Given the description of an element on the screen output the (x, y) to click on. 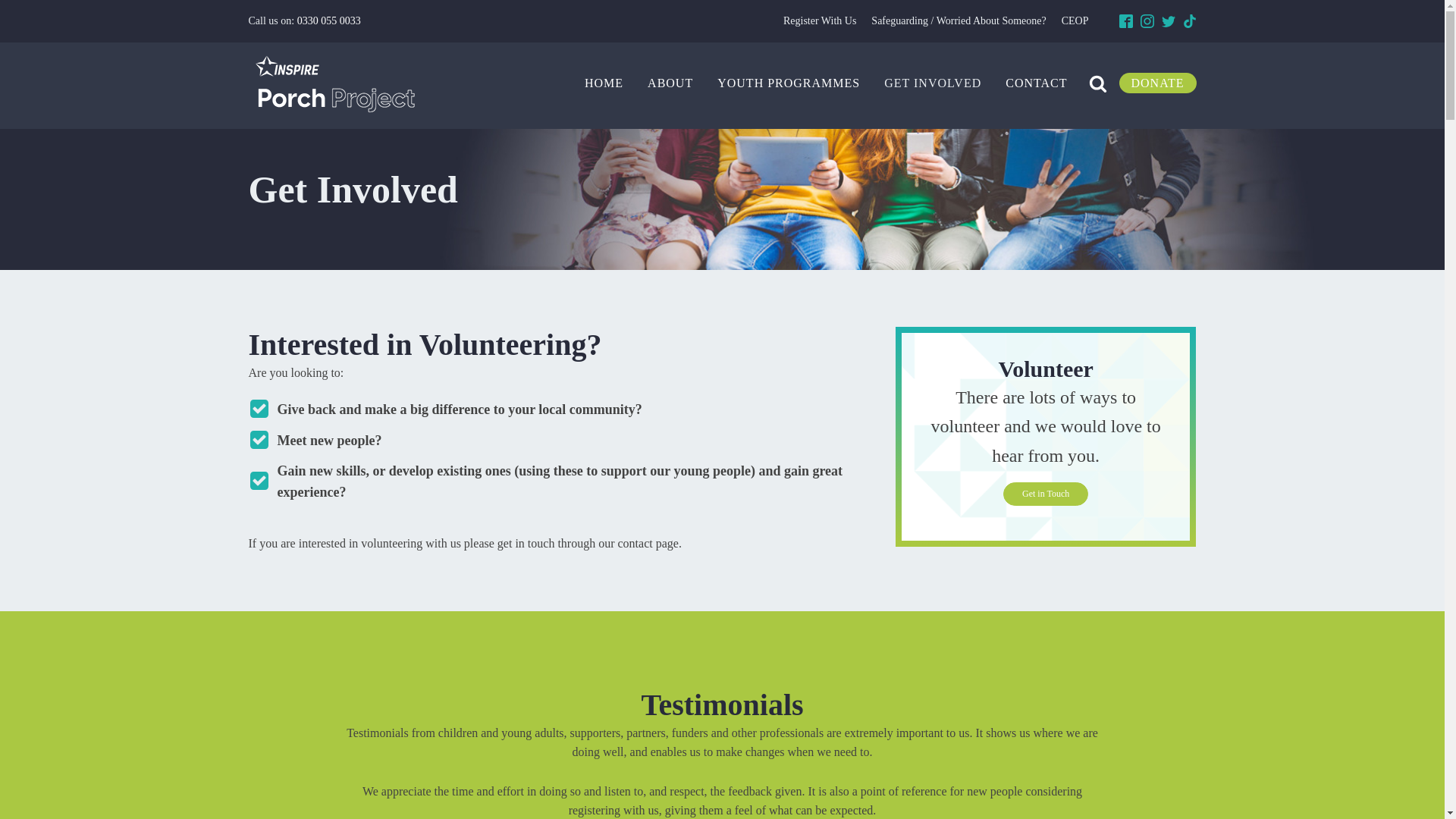
YOUTH PROGRAMMES (788, 83)
Register With Us (819, 21)
ABOUT (669, 83)
Search (25, 9)
CEOP (1075, 21)
GET INVOLVED (932, 83)
DONATE (1157, 83)
CONTACT (1035, 83)
HOME (603, 83)
